Given the description of an element on the screen output the (x, y) to click on. 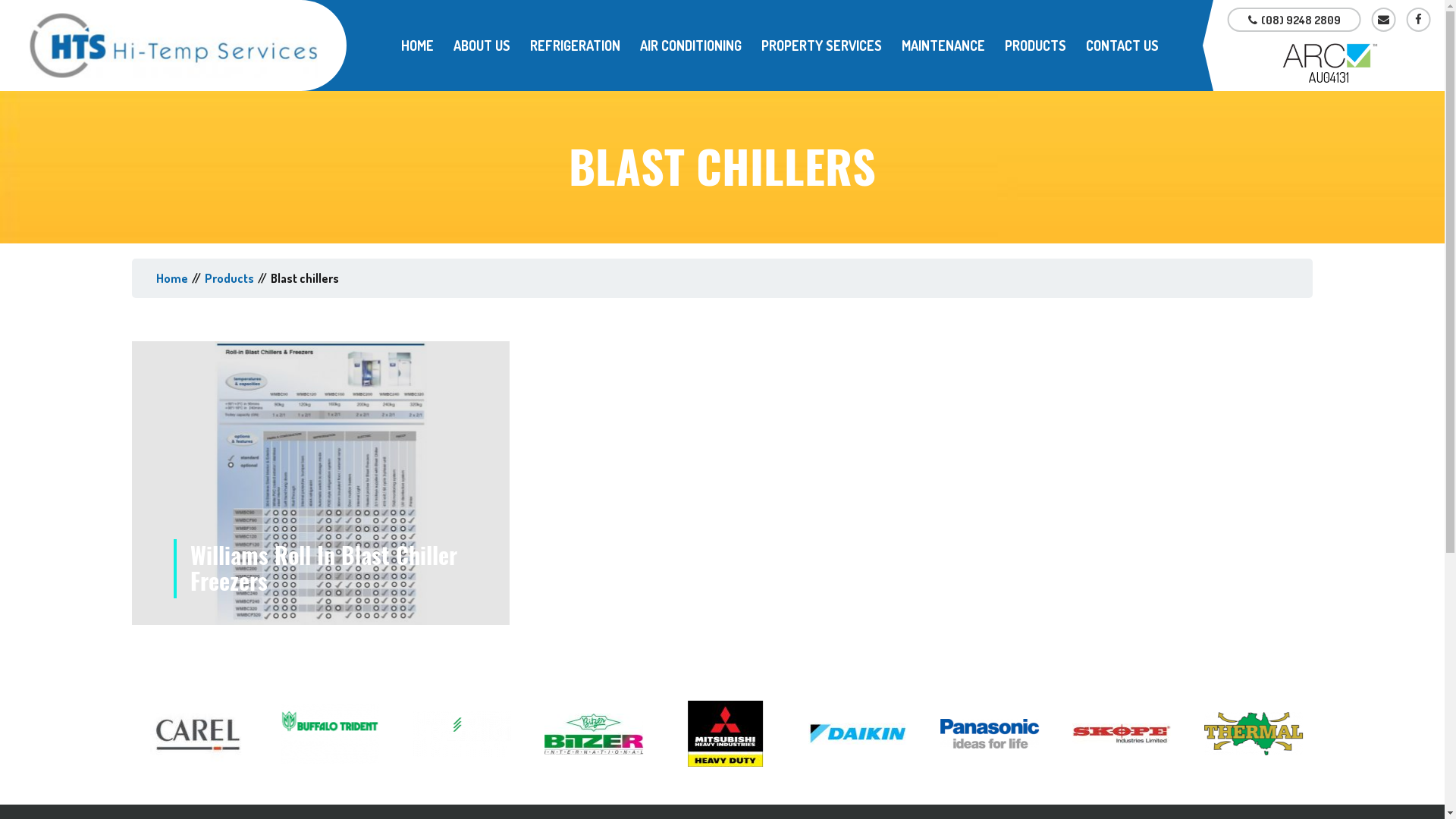
HOME Element type: text (417, 45)
(08) 9248 2809 Element type: text (1294, 19)
AIR CONDITIONING Element type: text (690, 45)
products Element type: text (229, 277)
ABOUT US Element type: text (481, 45)
PRODUCTS Element type: text (1035, 45)
HI-TEMP SERVICES Element type: hover (172, 45)
Williams Roll In Blast Chiller Freezers Element type: text (320, 482)
williams-blast-chillers-roll-in-spec-sheet Element type: hover (320, 482)
Our Facebook page Element type: hover (1418, 19)
REFRIGERATION Element type: text (575, 45)
PROPERTY SERVICES Element type: text (821, 45)
MAINTENANCE Element type: text (942, 45)
home Element type: text (171, 277)
CONTACT US Element type: text (1122, 45)
